Given the description of an element on the screen output the (x, y) to click on. 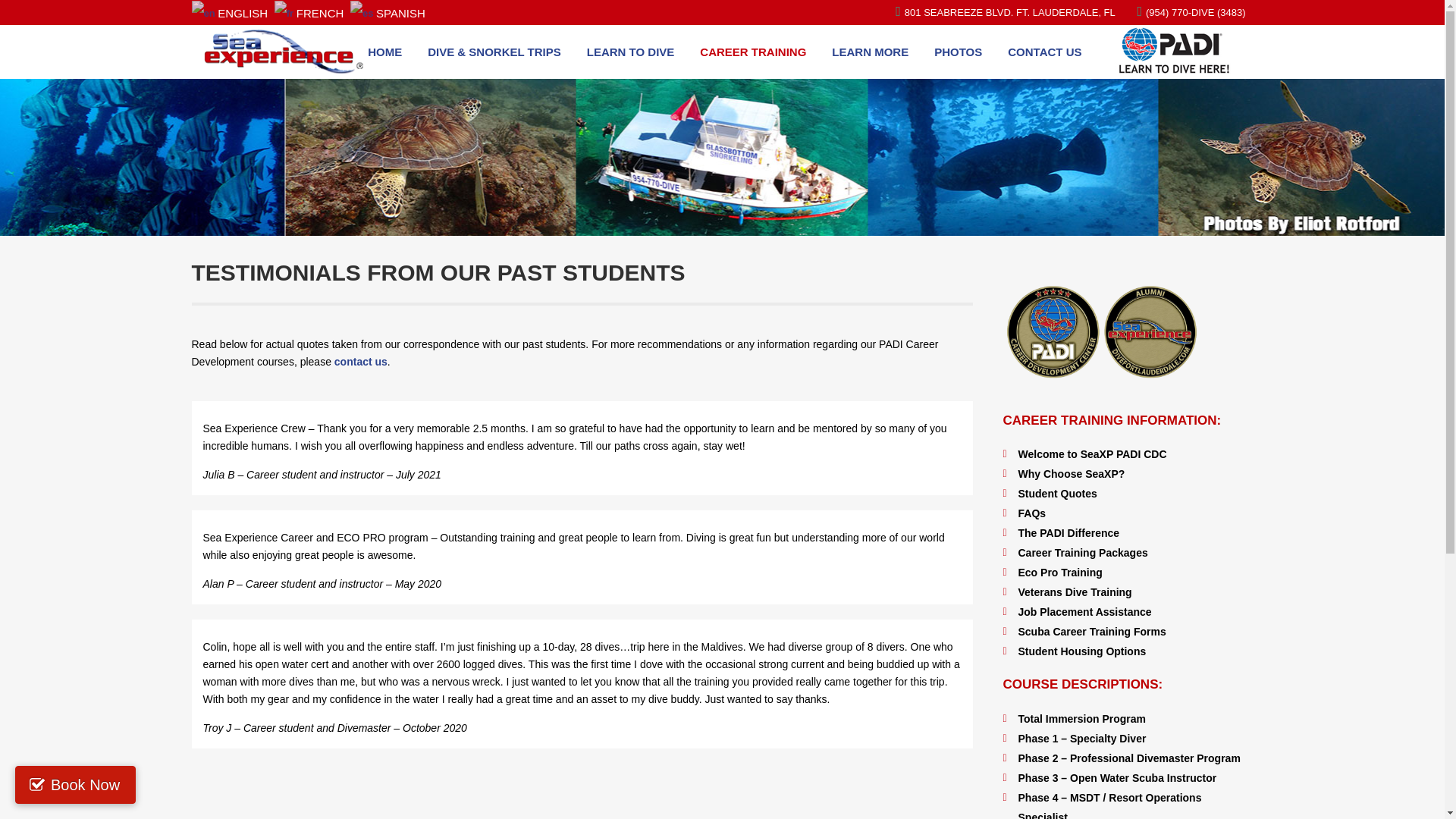
LEARN TO DIVE (630, 51)
CAREER TRAINING (752, 51)
HOME (384, 51)
SPANISH (389, 12)
ENGLISH (230, 12)
FRENCH (311, 12)
801 SEABREEZE BLVD. FT. LAUDERDALE, FL (1017, 12)
